Given the description of an element on the screen output the (x, y) to click on. 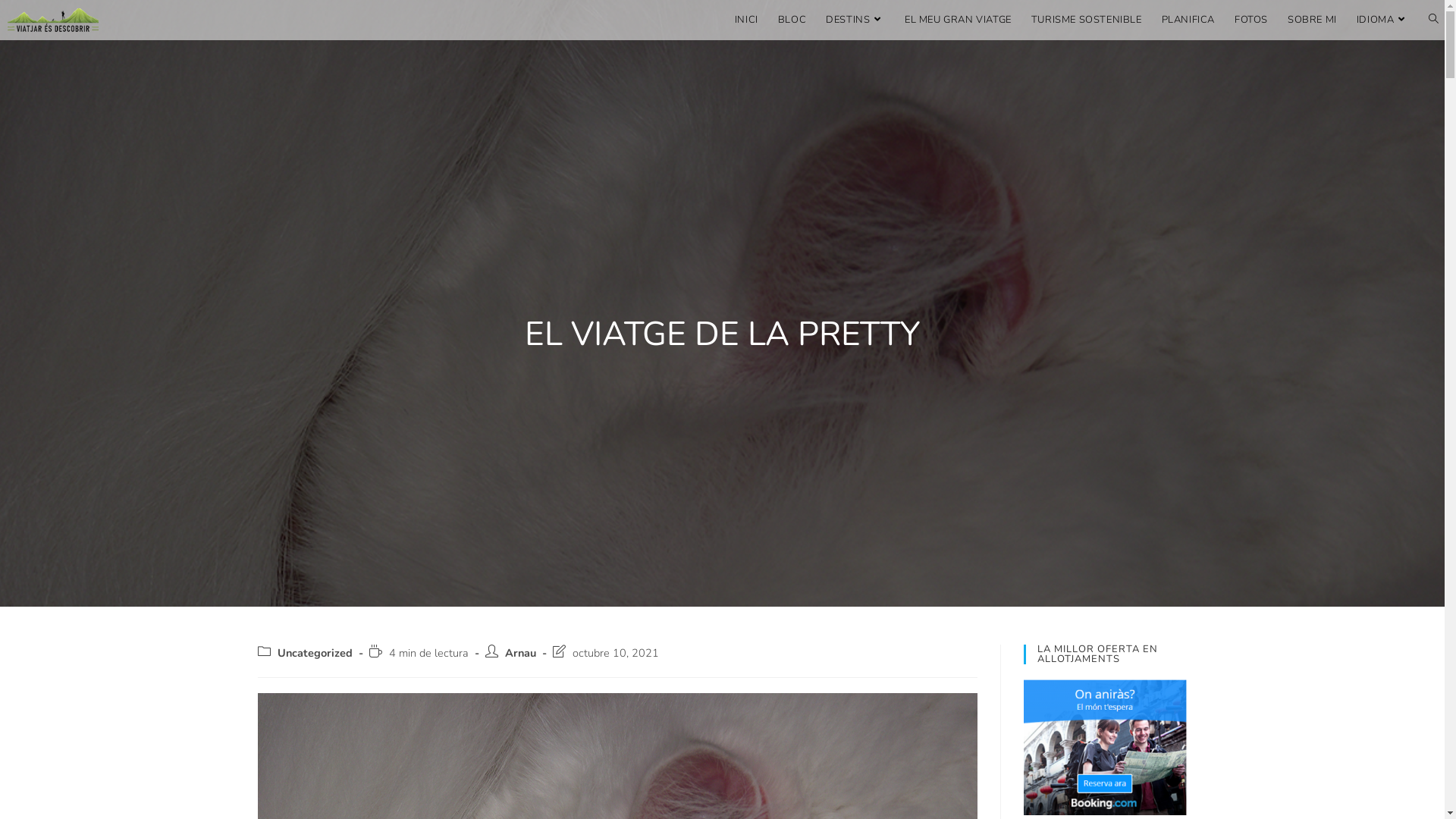
FOTOS Element type: text (1250, 20)
BLOC Element type: text (791, 20)
TURISME SOSTENIBLE Element type: text (1086, 20)
PLANIFICA Element type: text (1187, 20)
SOBRE MI Element type: text (1311, 20)
DESTINS Element type: text (854, 20)
IDIOMA Element type: text (1382, 20)
EL MEU GRAN VIATGE Element type: text (957, 20)
INICI Element type: text (746, 20)
Arnau Element type: text (520, 652)
Uncategorized Element type: text (314, 652)
